Given the description of an element on the screen output the (x, y) to click on. 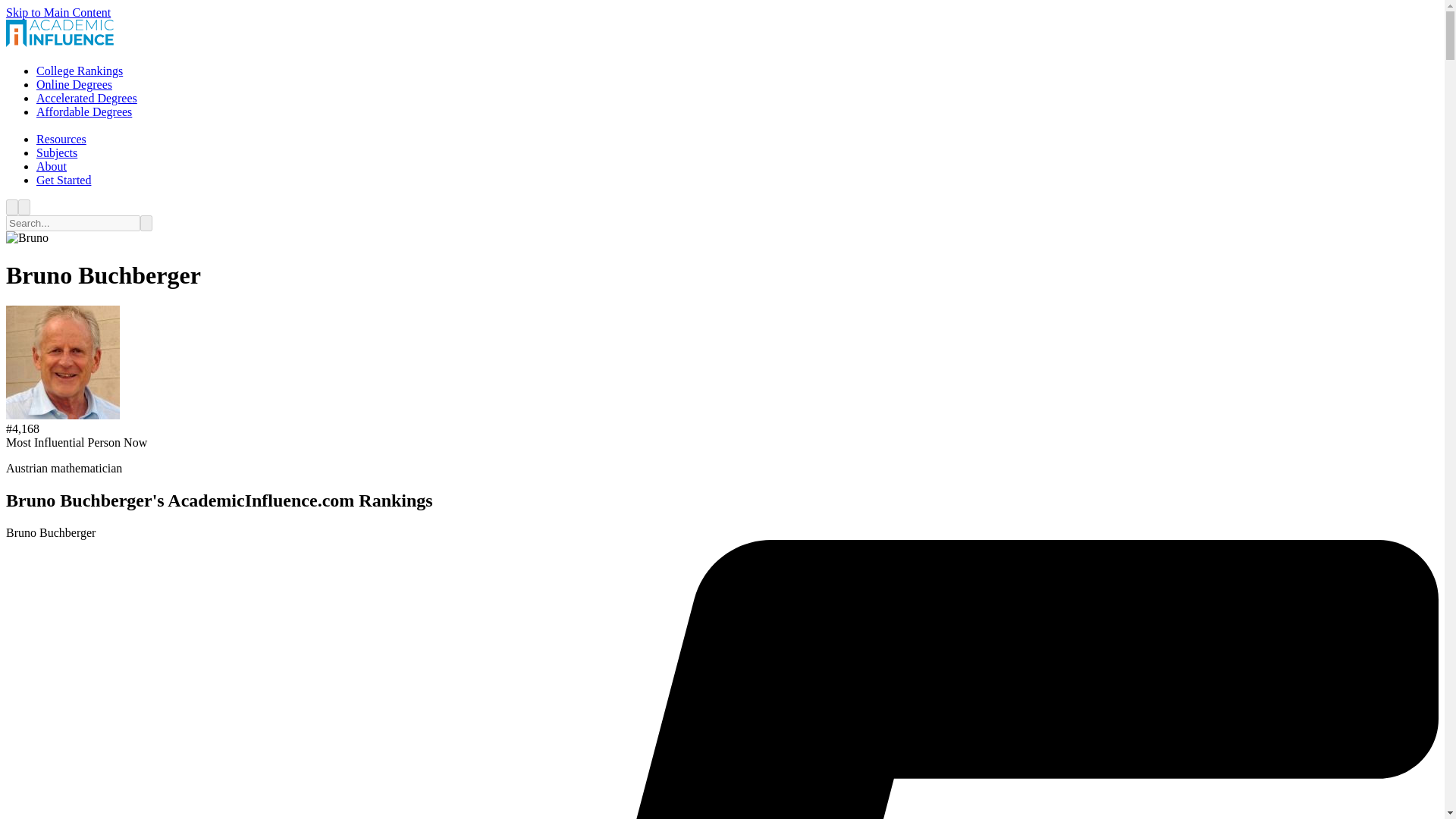
Get Started (63, 179)
Resources (60, 138)
About (51, 165)
Affordable Degrees (84, 111)
Skip to Main Content (57, 11)
Accelerated Degrees (86, 97)
Subjects (56, 152)
Online Degrees (74, 83)
College Rankings (79, 70)
